Given the description of an element on the screen output the (x, y) to click on. 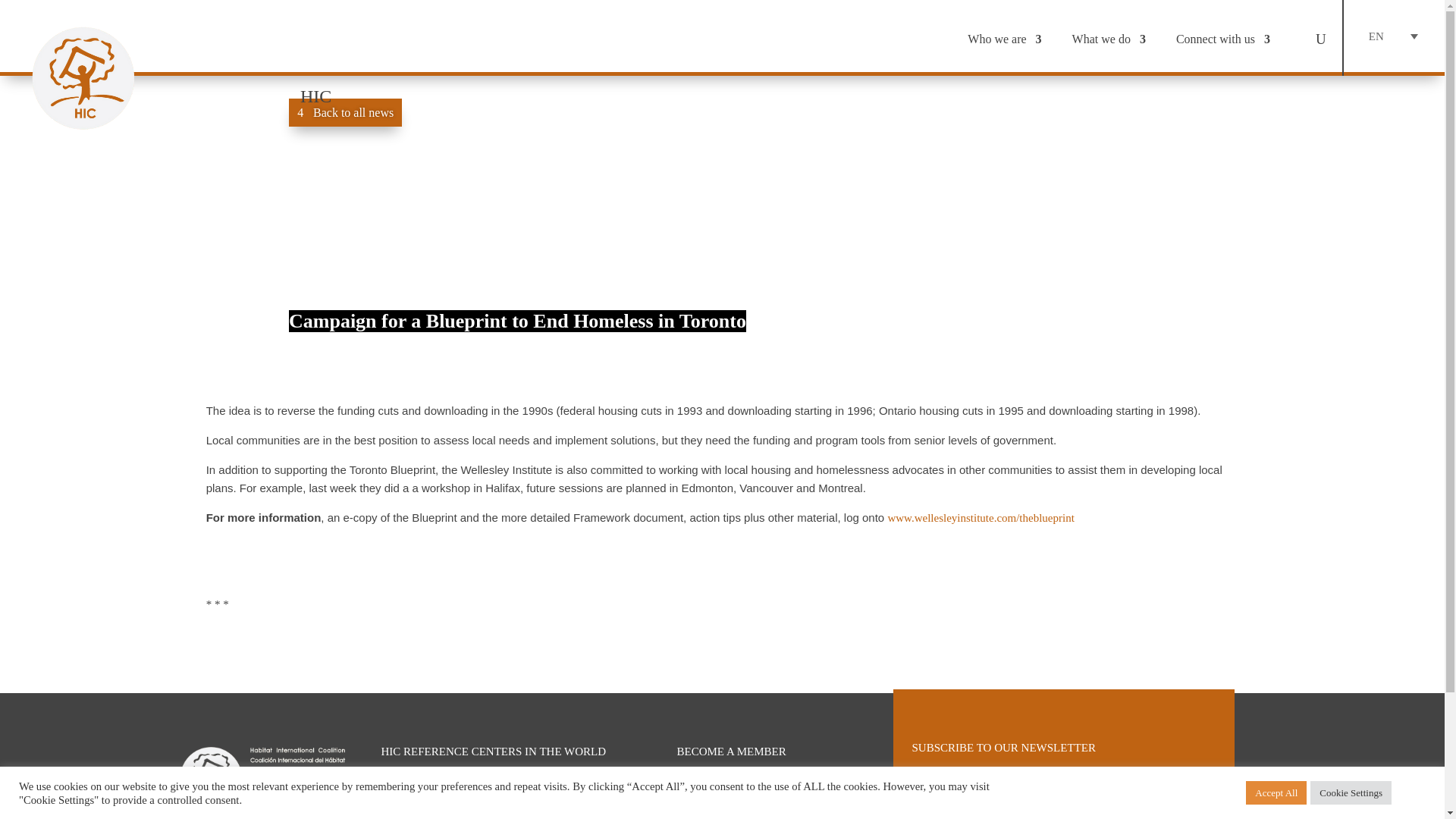
What we do (1108, 38)
 Middle East and North Africa (438, 790)
Who we are (1004, 38)
Connect with us (1222, 38)
Housing and Land Rights Network (449, 816)
Sub-Saharan Africa (419, 775)
HIC-LOGO-MULTIPLE-Languages-white (262, 777)
Latin America and the Caribbean (446, 805)
